Given the description of an element on the screen output the (x, y) to click on. 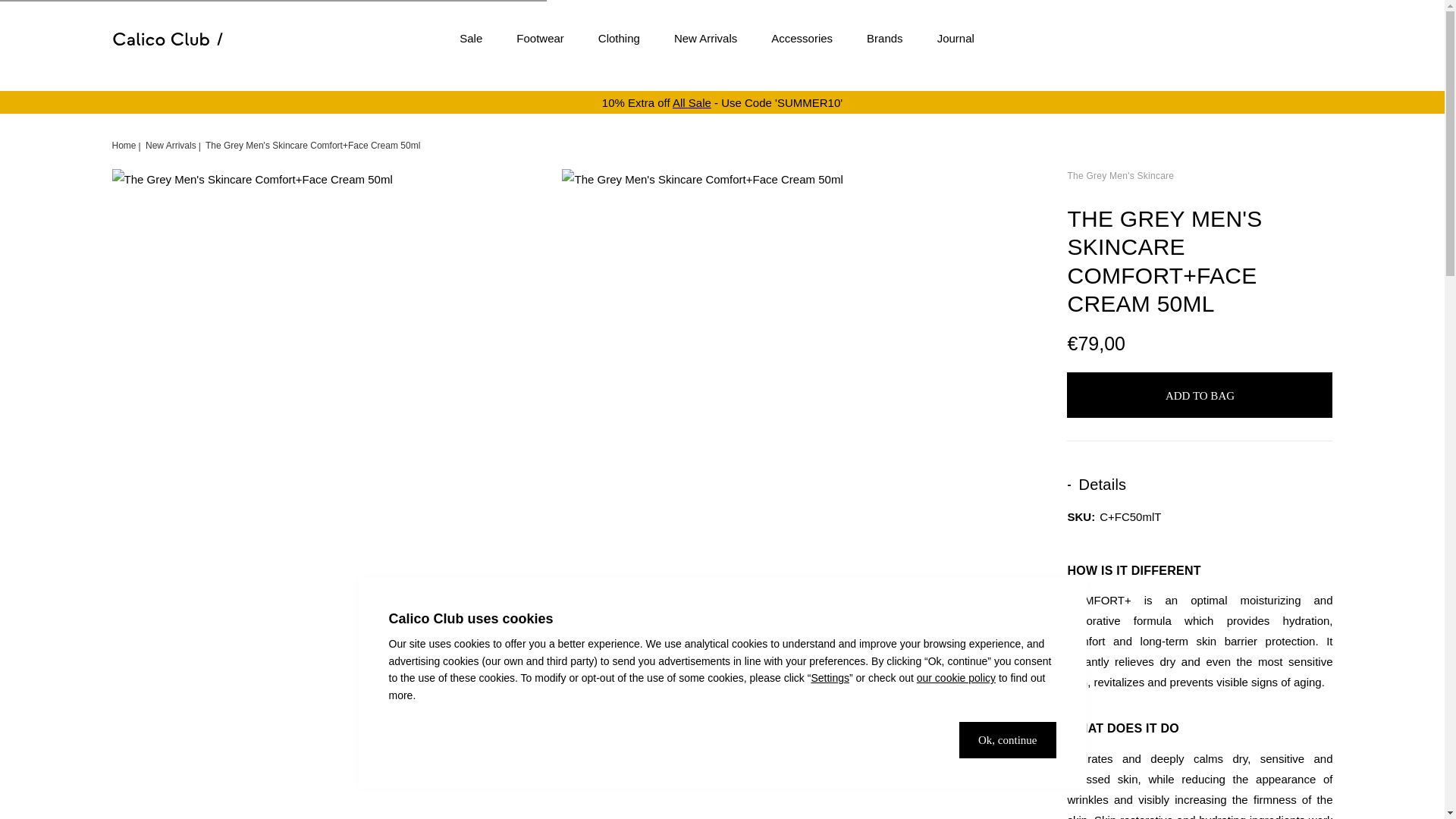
Journal (955, 37)
Add to Bag (1199, 394)
New Arrivals (705, 37)
Brands (885, 37)
Calico Club (168, 38)
Clothing (618, 37)
Accessories (802, 37)
Sale (470, 37)
Footwear (539, 37)
